Given the description of an element on the screen output the (x, y) to click on. 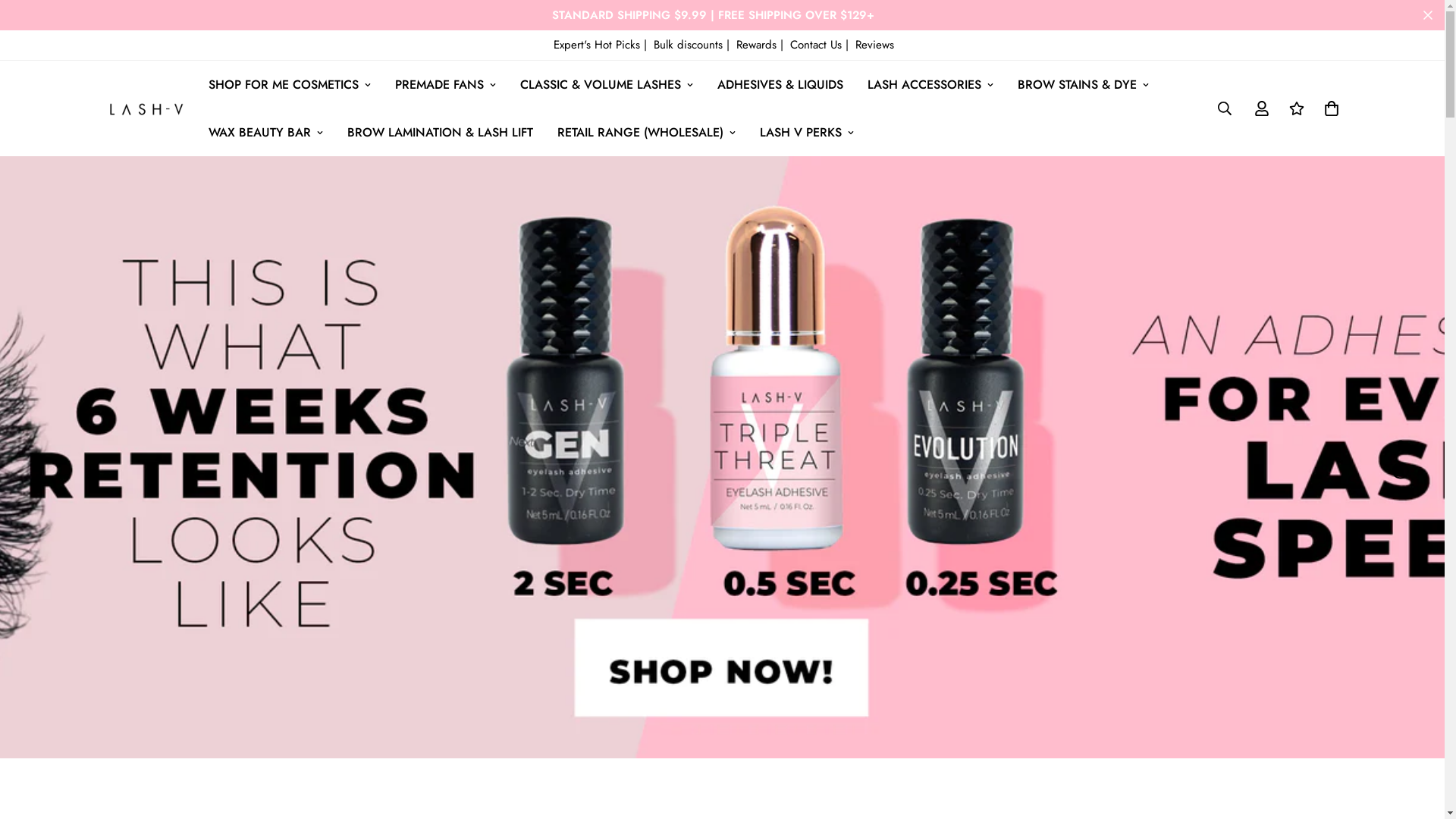
LASH ACCESSORIES Element type: text (930, 84)
BROW STAINS & DYE Element type: text (1083, 84)
PREMADE FANS Element type: text (444, 84)
ONE V SALON Element type: hover (145, 108)
Rewards Element type: text (758, 44)
Contact Us Element type: text (817, 44)
RETAIL RANGE (WHOLESALE) Element type: text (645, 132)
SHOP FOR ME COSMETICS Element type: text (288, 84)
Reviews Element type: text (874, 44)
CLASSIC & VOLUME LASHES Element type: text (606, 84)
Expert's Hot Picks Element type: text (598, 44)
Bulk discounts Element type: text (689, 44)
WAX BEAUTY BAR Element type: text (264, 132)
LASH V PERKS Element type: text (806, 132)
ADHESIVES & LIQUIDS Element type: text (780, 84)
BROW LAMINATION & LASH LIFT Element type: text (440, 132)
